Given the description of an element on the screen output the (x, y) to click on. 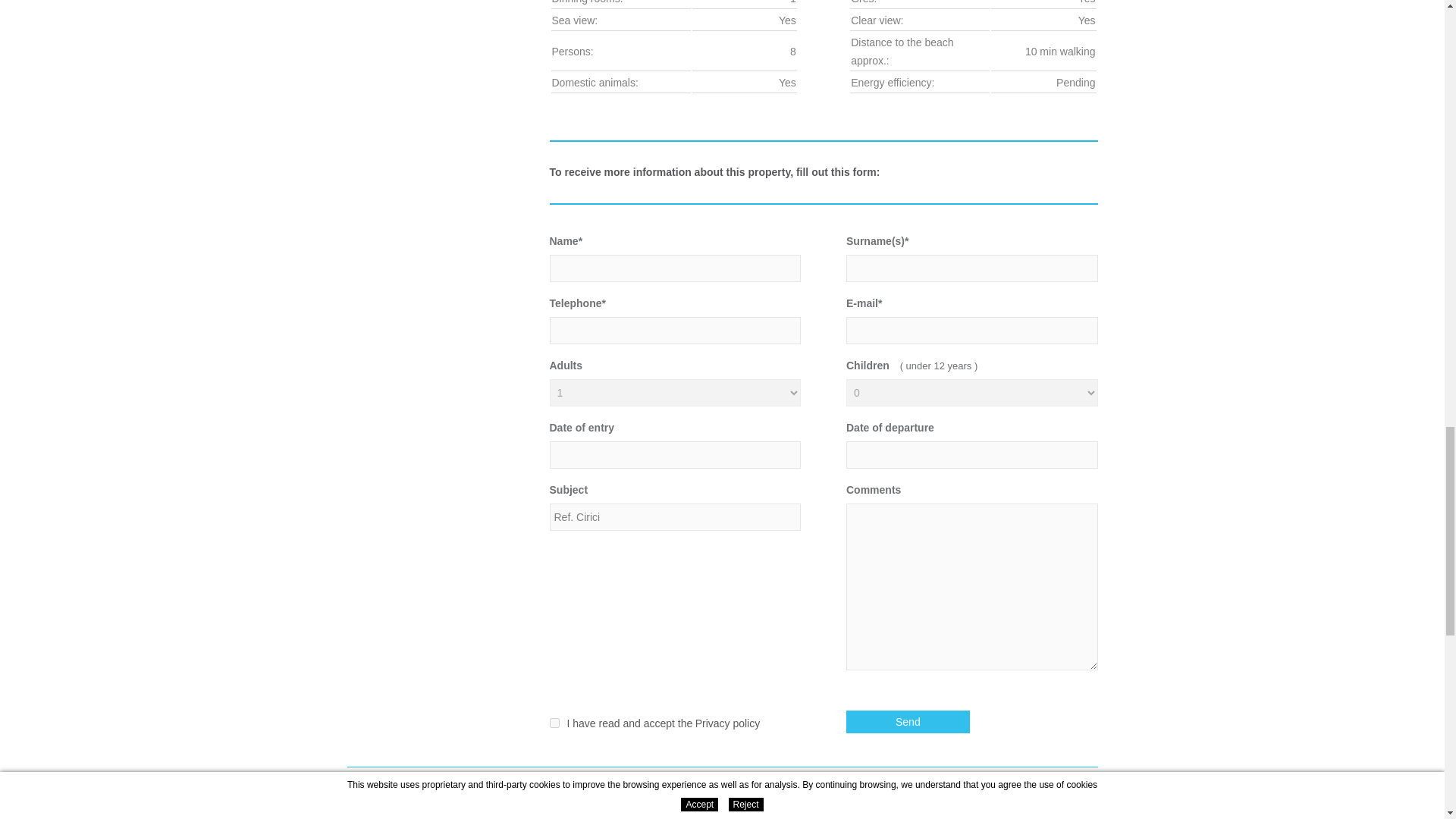
Send (907, 721)
Ref. Cirici (674, 516)
1 (553, 723)
